Given the description of an element on the screen output the (x, y) to click on. 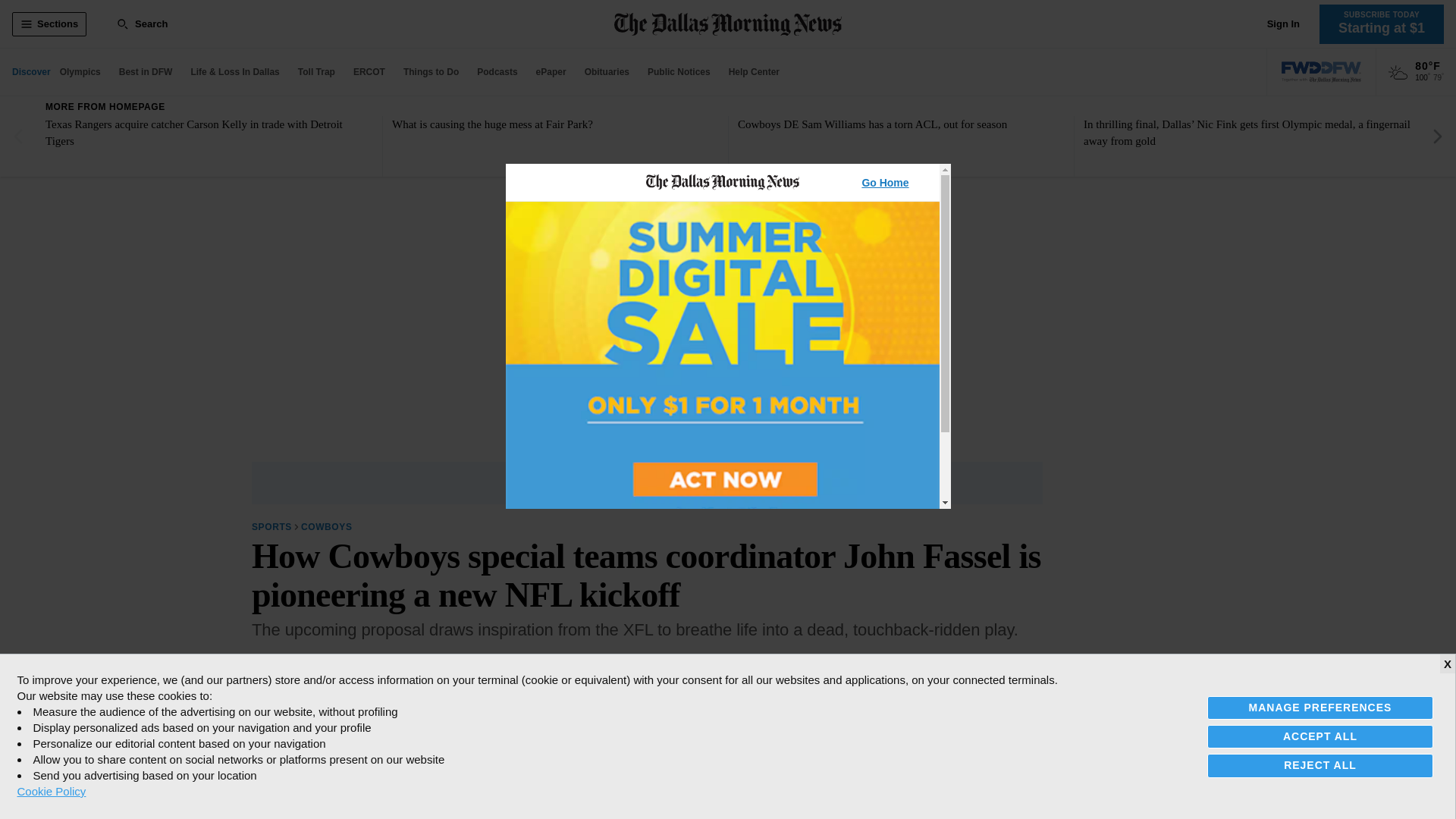
FWD DFW, Together with The Dallas Morning News (1320, 72)
ACCEPT ALL (1319, 736)
Cookie Policy (50, 790)
Few clouds (1398, 72)
REJECT ALL (1319, 765)
MANAGE PREFERENCES (1319, 707)
